Given the description of an element on the screen output the (x, y) to click on. 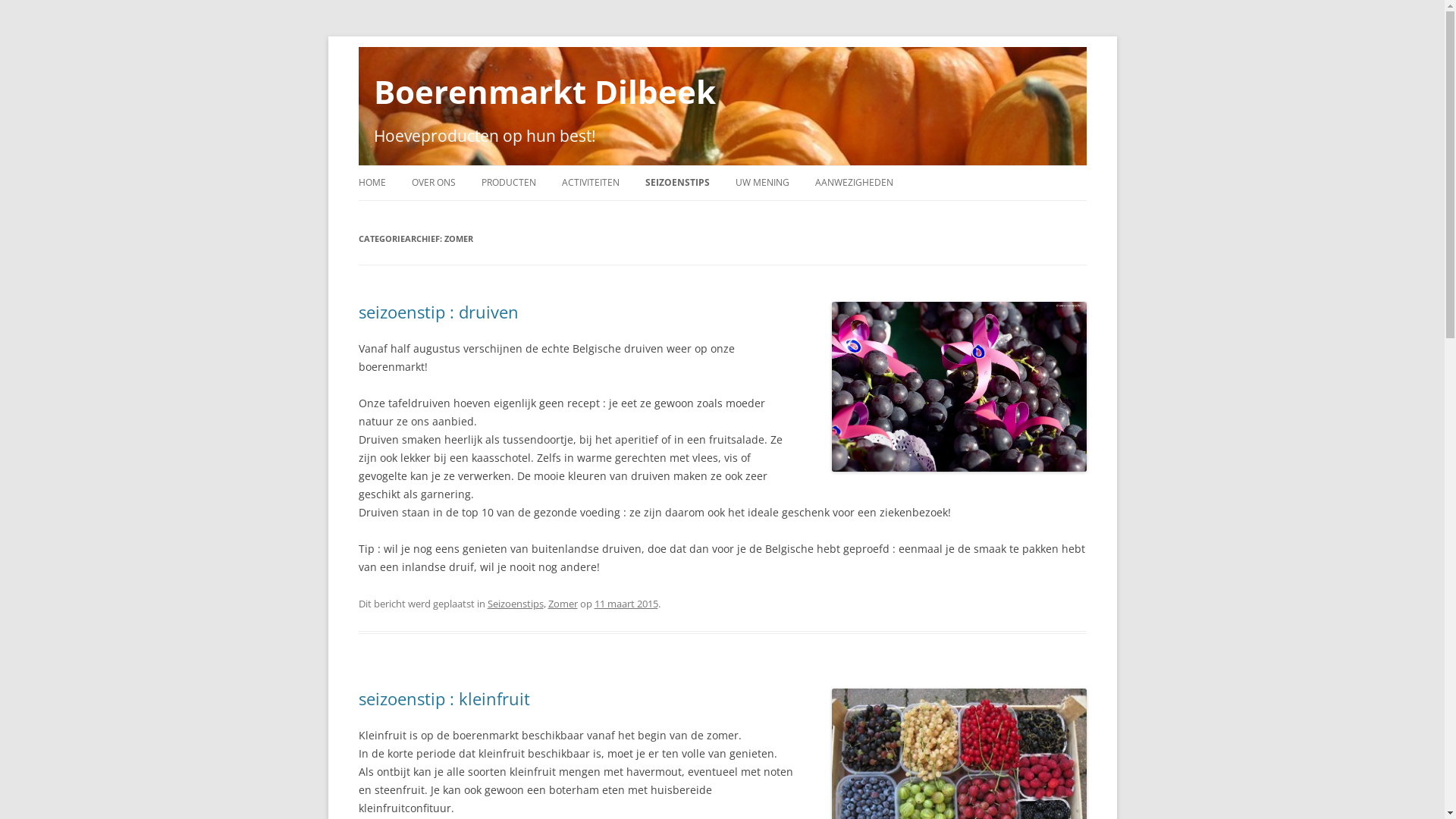
ACTIVITEITEN Element type: text (589, 182)
UW MENING Element type: text (762, 182)
LENTE Element type: text (720, 215)
PRODUCTEN Element type: text (507, 182)
HOME Element type: text (371, 182)
Spring naar inhoud Element type: text (721, 165)
Zomer Element type: text (562, 603)
BLOEMEN Element type: text (556, 215)
11 maart 2015 Element type: text (626, 603)
Seizoenstips Element type: text (514, 603)
AANWEZIGHEDEN Element type: text (853, 182)
Boerenmarkt Dilbeek Element type: text (544, 91)
SEIZOENSTIPS Element type: text (676, 182)
OVER ONS Element type: text (433, 182)
seizoenstip : druiven Element type: text (437, 311)
seizoenstip : kleinfruit Element type: text (443, 698)
BOEKENTASSENACTIE 3 SEPTEMBER 2022 Element type: text (636, 224)
